Given the description of an element on the screen output the (x, y) to click on. 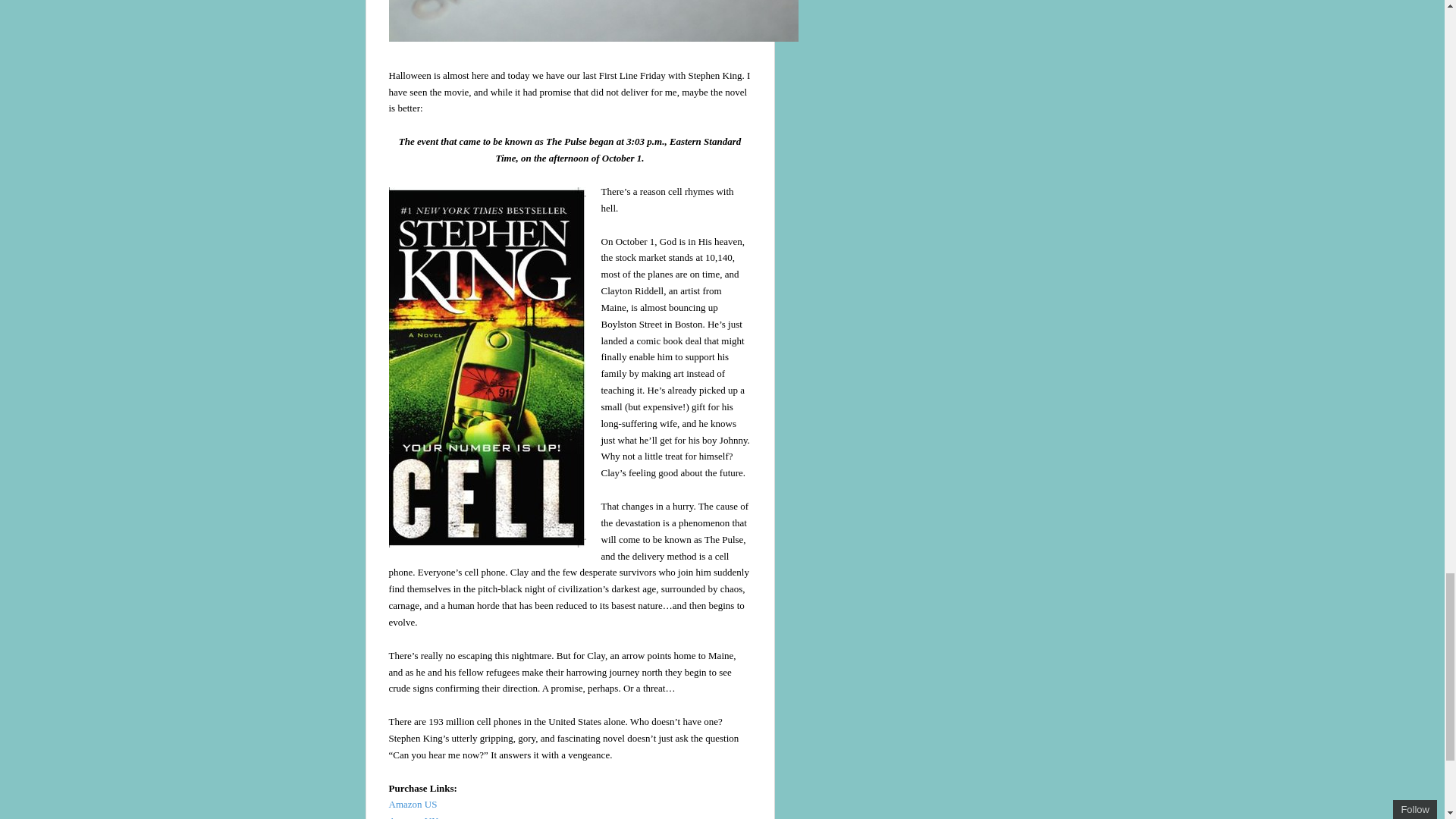
Amazon UK (413, 816)
Amazon US (412, 803)
